Given the description of an element on the screen output the (x, y) to click on. 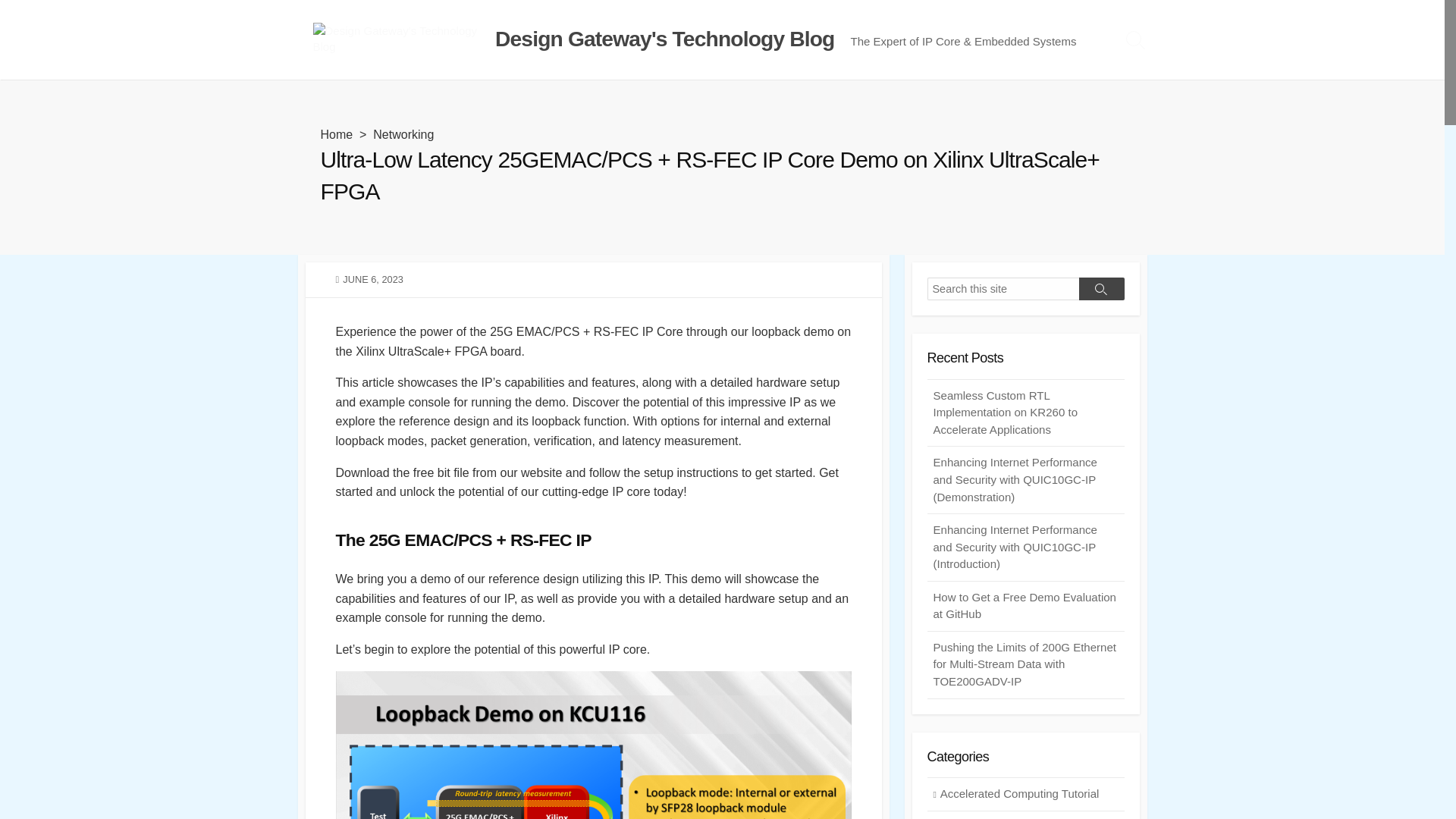
Accelerator Systems Webinar (1025, 815)
Design Gateway's Technology Blog (399, 39)
Accelerated Computing Tutorial (1025, 794)
Home (336, 133)
Networking (402, 133)
How to Get a Free Demo Evaluation at GitHub (1025, 606)
Search (1101, 288)
Design Gateway's Technology Blog (664, 39)
